Given the description of an element on the screen output the (x, y) to click on. 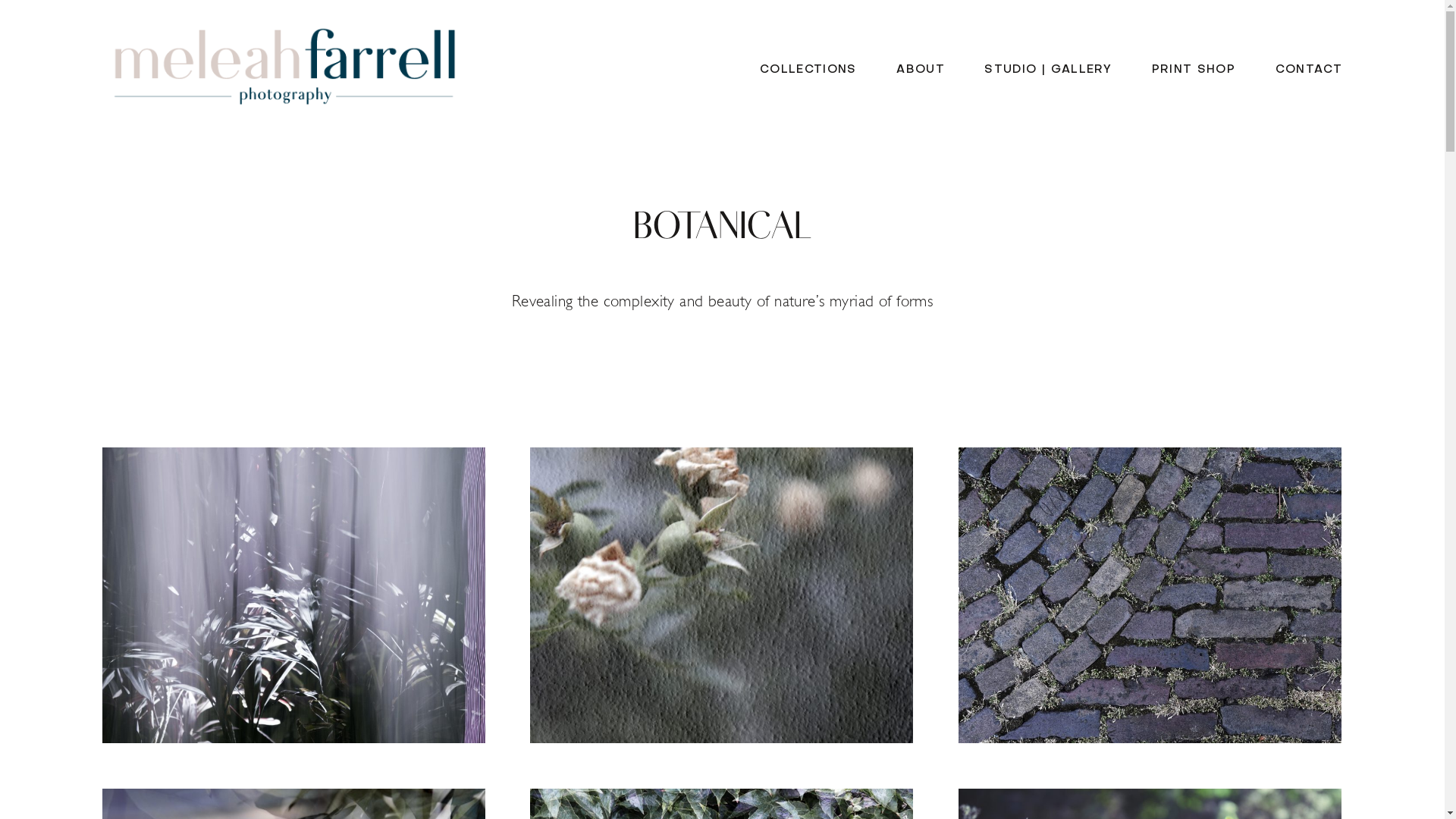
ABOUT Element type: text (920, 70)
STUDIO | GALLERY Element type: text (1047, 70)
CONTACT Element type: text (1308, 70)
COLLECTIONS Element type: text (807, 70)
PRINT SHOP Element type: text (1193, 70)
